Given the description of an element on the screen output the (x, y) to click on. 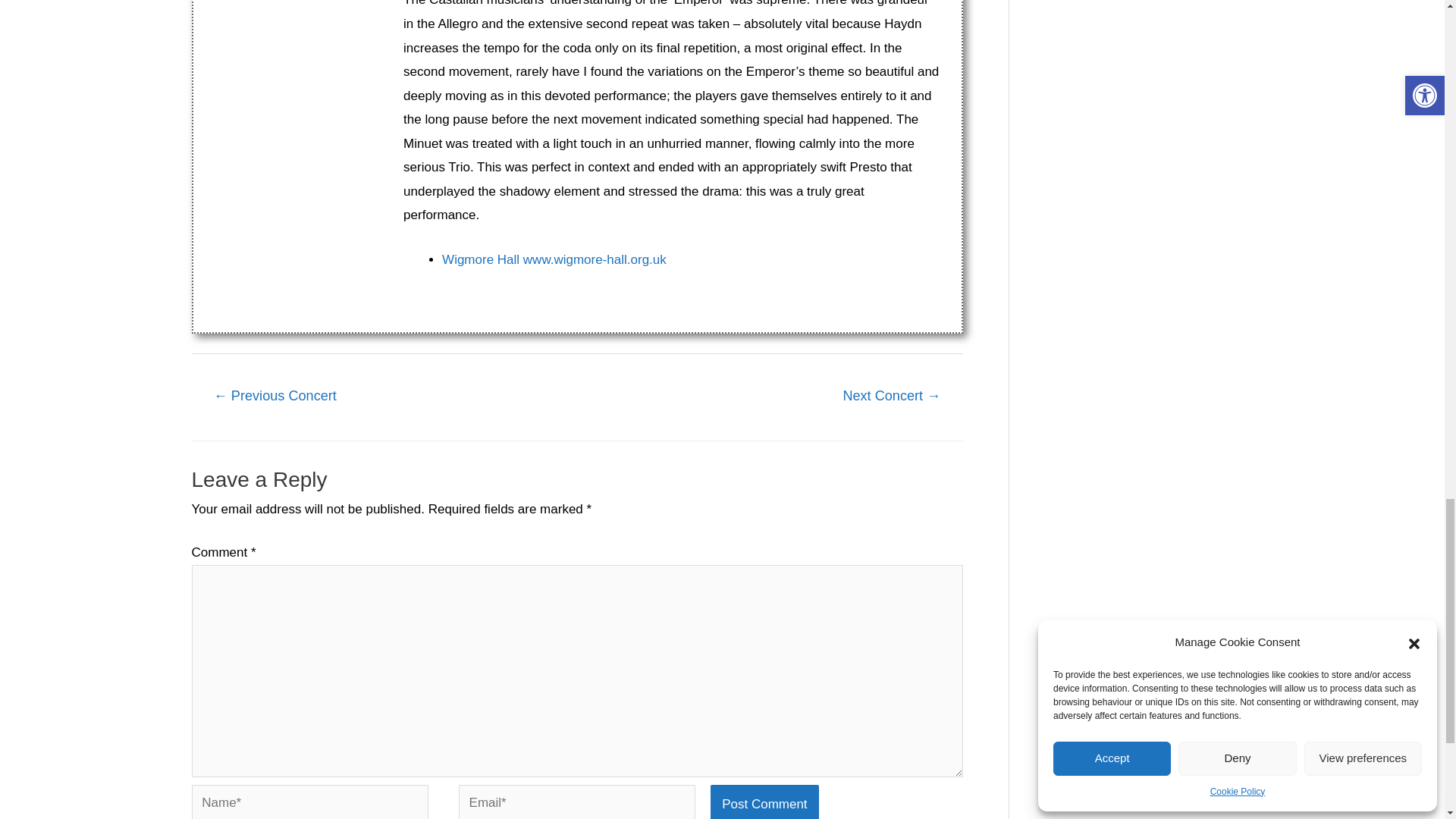
Post Comment (764, 801)
